Given the description of an element on the screen output the (x, y) to click on. 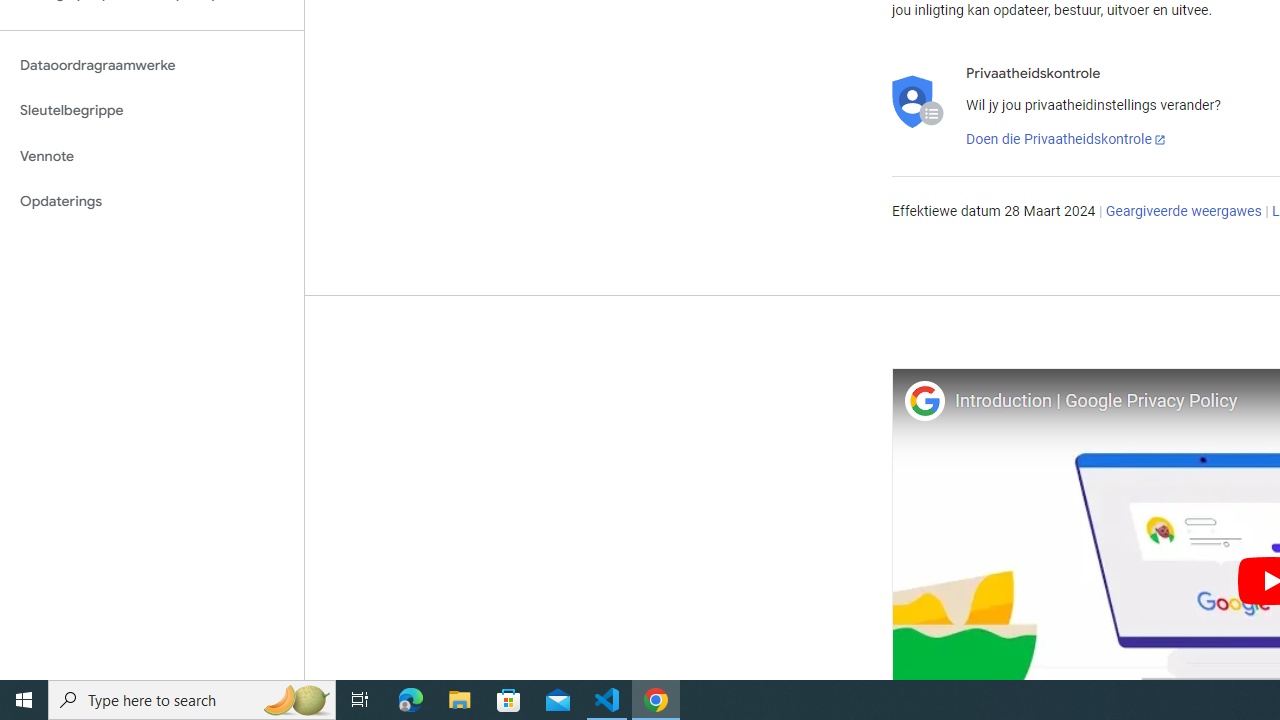
Geargiveerde weergawes (1183, 212)
Doen die Privaatheidskontrole (1066, 140)
Fotobeeld van Google (924, 400)
Opdaterings (152, 201)
Vennote (152, 156)
Sleutelbegrippe (152, 110)
Dataoordragraamwerke (152, 65)
